Given the description of an element on the screen output the (x, y) to click on. 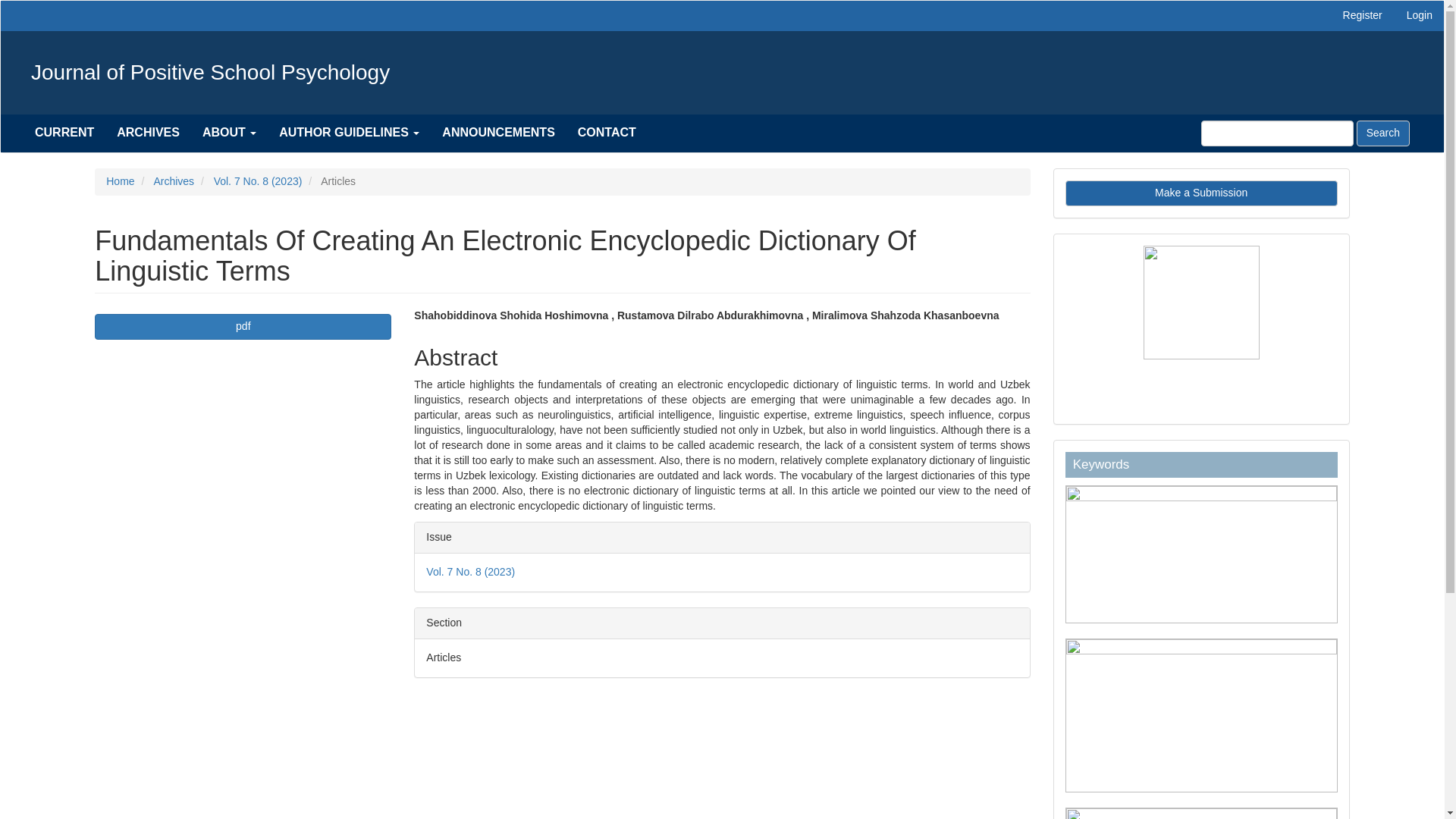
AUTHOR GUIDELINES (348, 132)
Journal of Positive School Psychology (210, 72)
Register (1362, 15)
Search (1382, 133)
Make a Submission (1201, 193)
Archives (172, 181)
ABOUT (228, 132)
ARCHIVES (147, 132)
ANNOUNCEMENTS (498, 132)
pdf (242, 326)
